Given the description of an element on the screen output the (x, y) to click on. 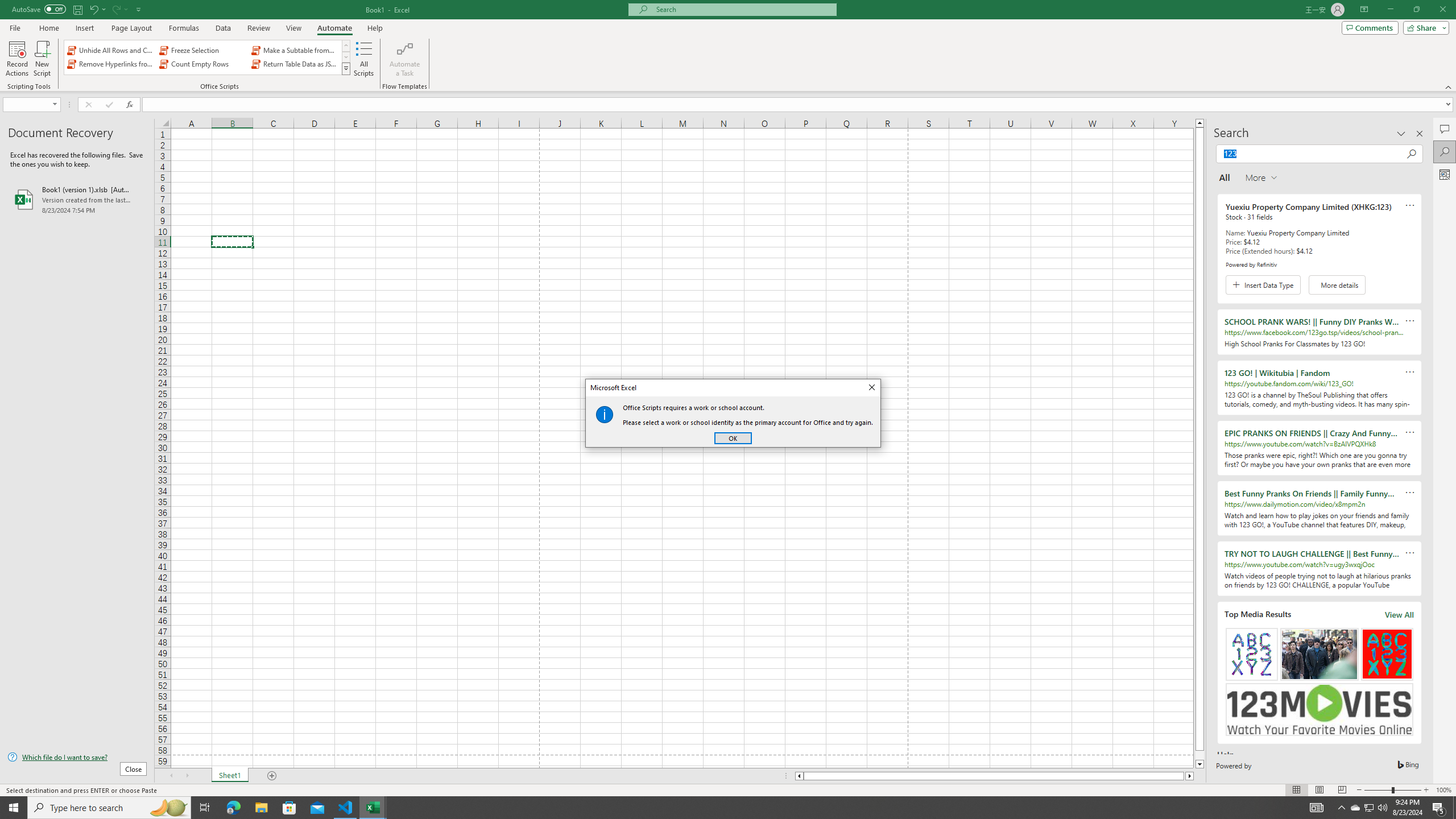
Running applications (717, 807)
Visual Studio Code - 1 running window (345, 807)
File Explorer (261, 807)
